Given the description of an element on the screen output the (x, y) to click on. 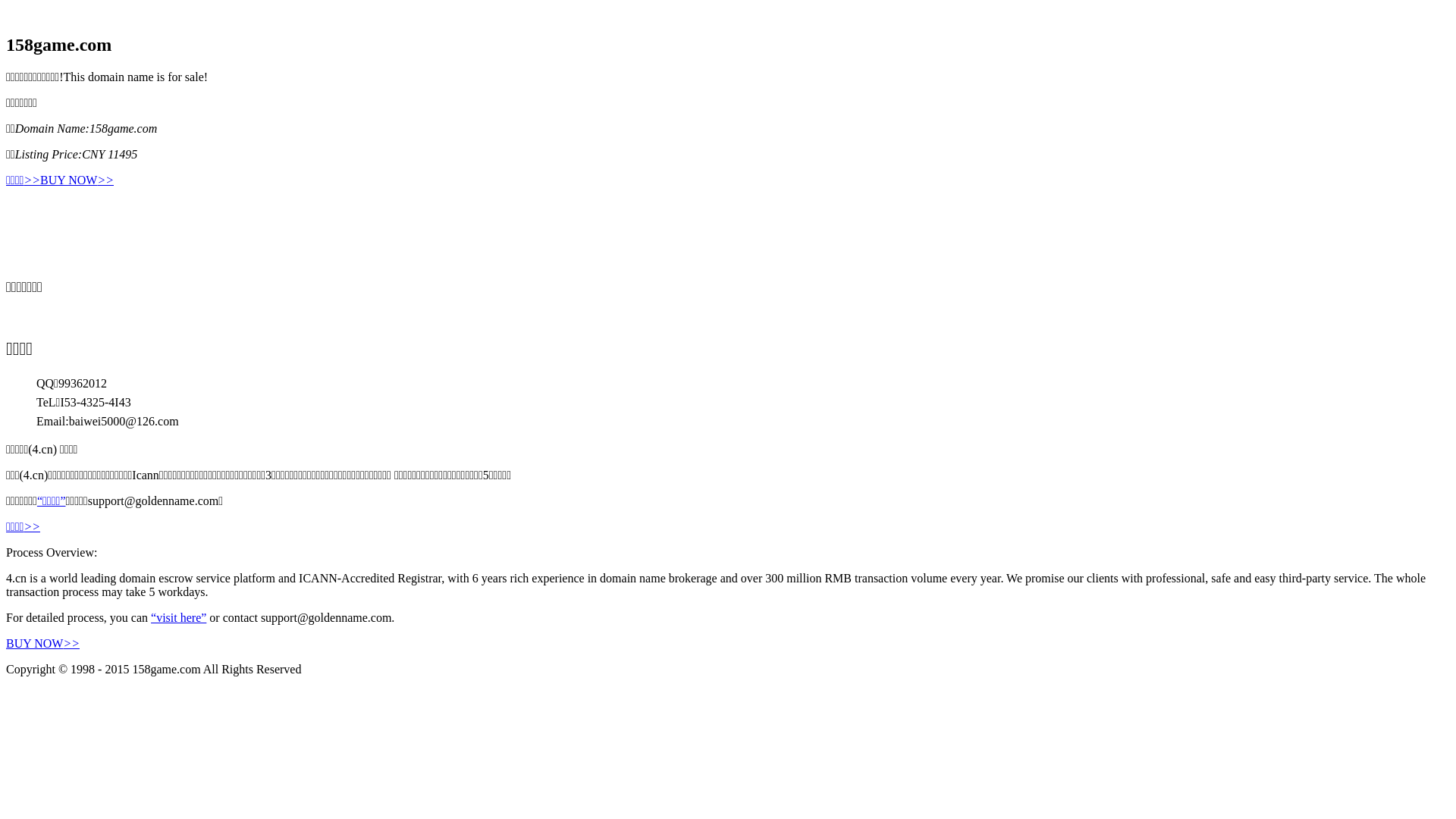
BUY NOW>> Element type: text (42, 643)
BUY NOW>> Element type: text (76, 180)
